Given the description of an element on the screen output the (x, y) to click on. 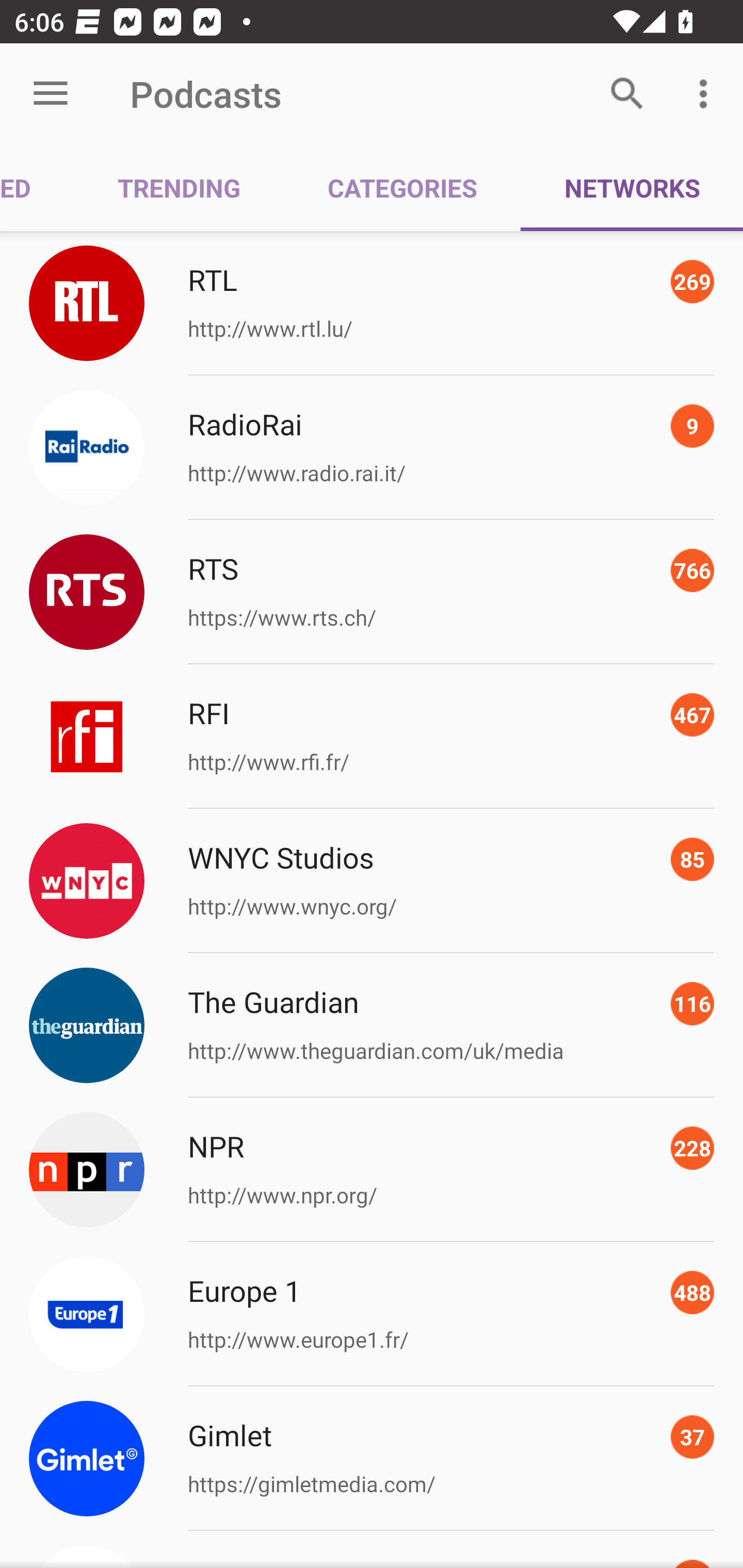
Open menu (50, 93)
Search (626, 93)
More options (706, 93)
TRENDING (178, 187)
CATEGORIES (401, 187)
NETWORKS (631, 187)
Picture RTL 269 http://www.rtl.lu/ (371, 302)
Picture RadioRai 9 http://www.radio.rai.it/ (371, 447)
Picture RTS 766 https://www.rts.ch/ (371, 592)
Picture RFI 467 http://www.rfi.fr/ (371, 736)
Picture WNYC Studios 85 http://www.wnyc.org/ (371, 881)
Picture NPR 228 http://www.npr.org/ (371, 1169)
Picture Europe 1 488 http://www.europe1.fr/ (371, 1313)
Picture Gimlet 37 https://gimletmedia.com/ (371, 1458)
